Given the description of an element on the screen output the (x, y) to click on. 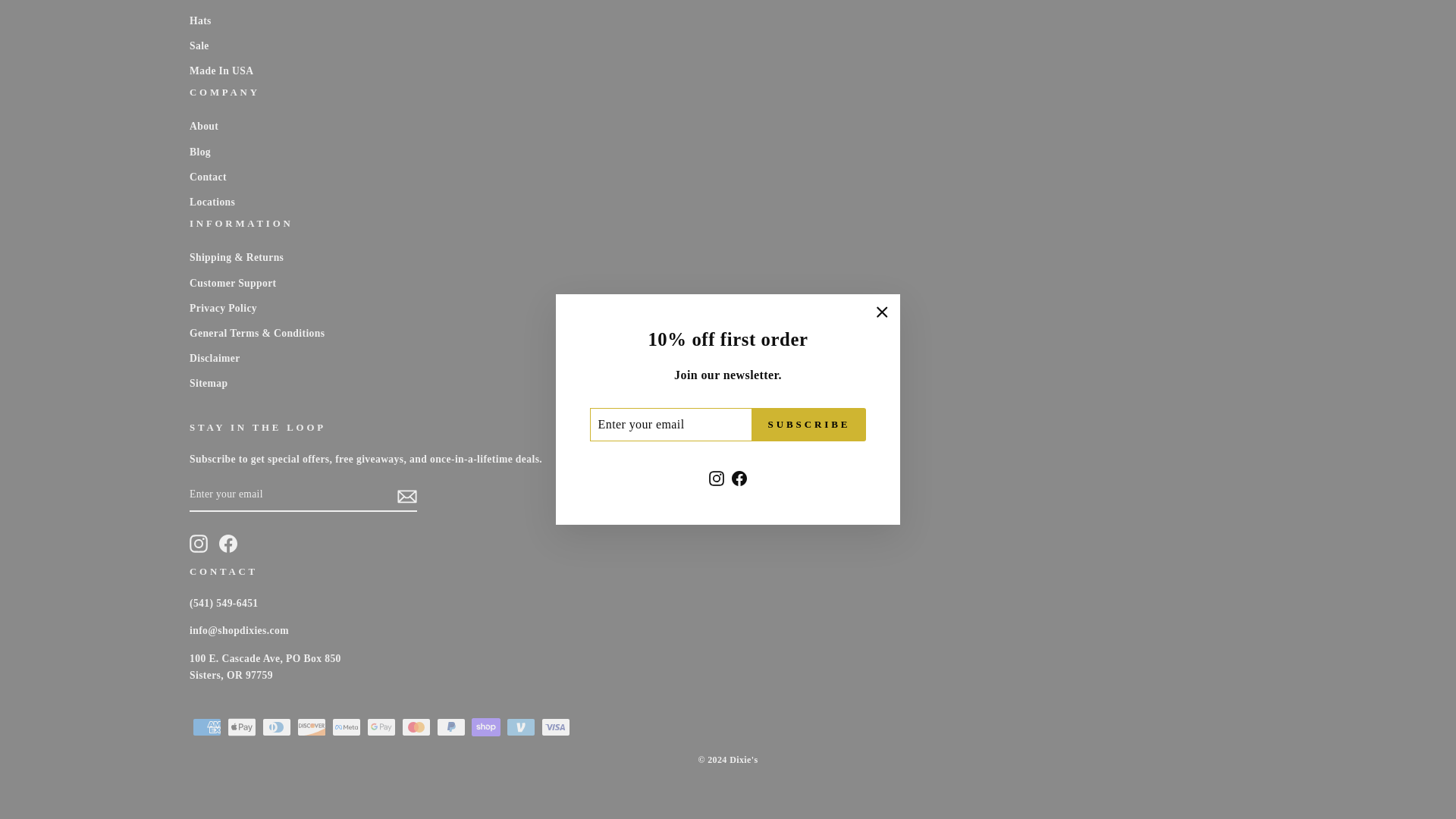
Google Pay (381, 727)
Meta Pay (346, 727)
American Express (206, 727)
Mastercard (415, 727)
Shop Pay (485, 727)
Apple Pay (241, 727)
Diners Club (276, 727)
PayPal (450, 727)
Discover (311, 727)
